Given the description of an element on the screen output the (x, y) to click on. 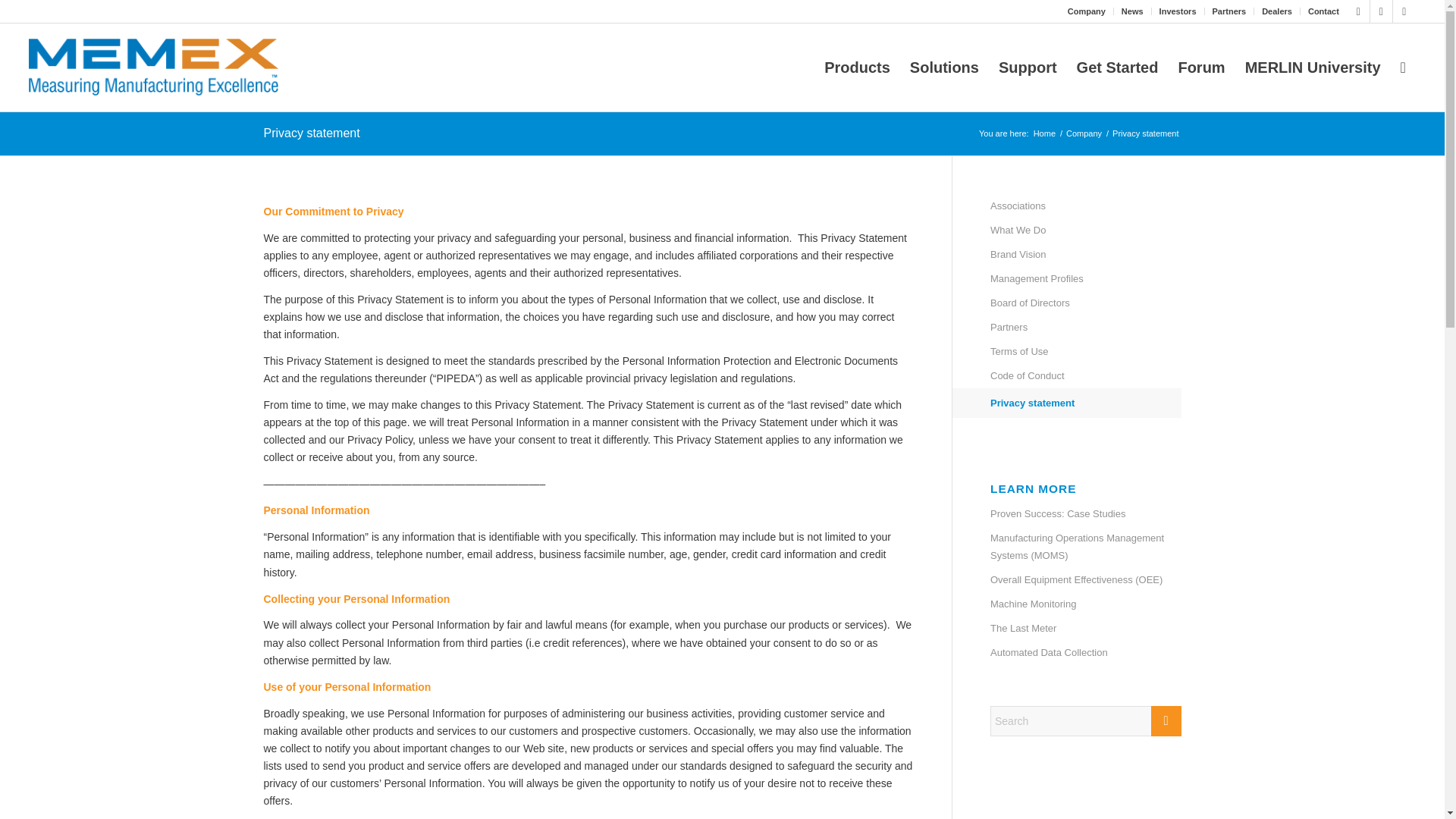
Memex Inc. (1044, 133)
Solutions (943, 67)
Permanent Link: Privacy statement (311, 132)
News (1131, 11)
Company (1083, 133)
Contact (1323, 11)
Click to start search (1165, 720)
Investors (1177, 11)
Dealers (1277, 11)
Partners (1229, 11)
Youtube (1404, 11)
LinkedIn (1380, 11)
Products (856, 67)
X (1359, 11)
Company (1086, 11)
